Given the description of an element on the screen output the (x, y) to click on. 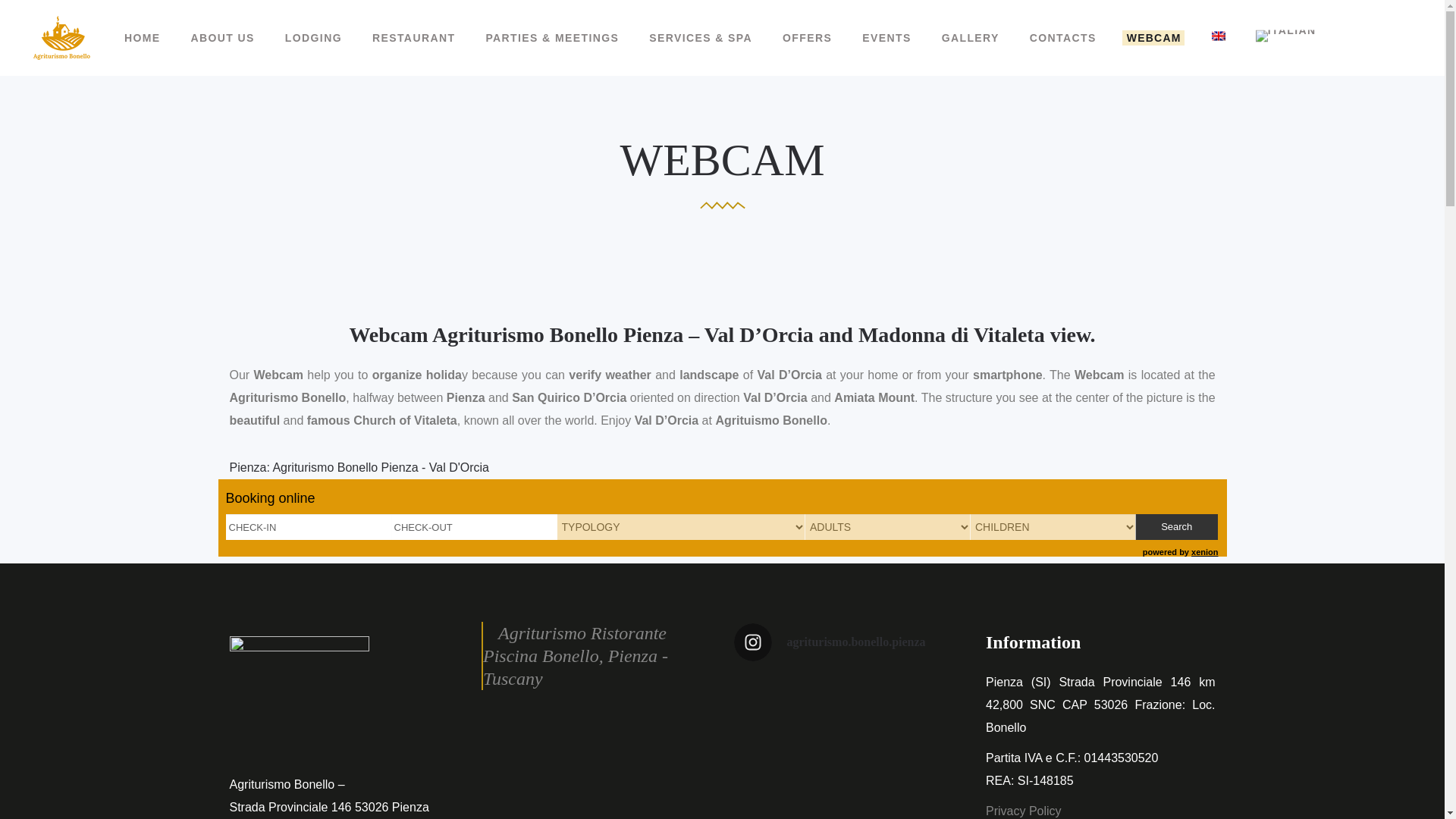
OFFERS (807, 38)
Il gestionale per le case vacanza (1204, 551)
LODGING (312, 38)
GALLERY (970, 38)
RESTAURANT (413, 38)
ABOUT US (222, 38)
CONTACTS (1063, 38)
EVENTS (886, 38)
WEBCAM (1154, 38)
